Given the description of an element on the screen output the (x, y) to click on. 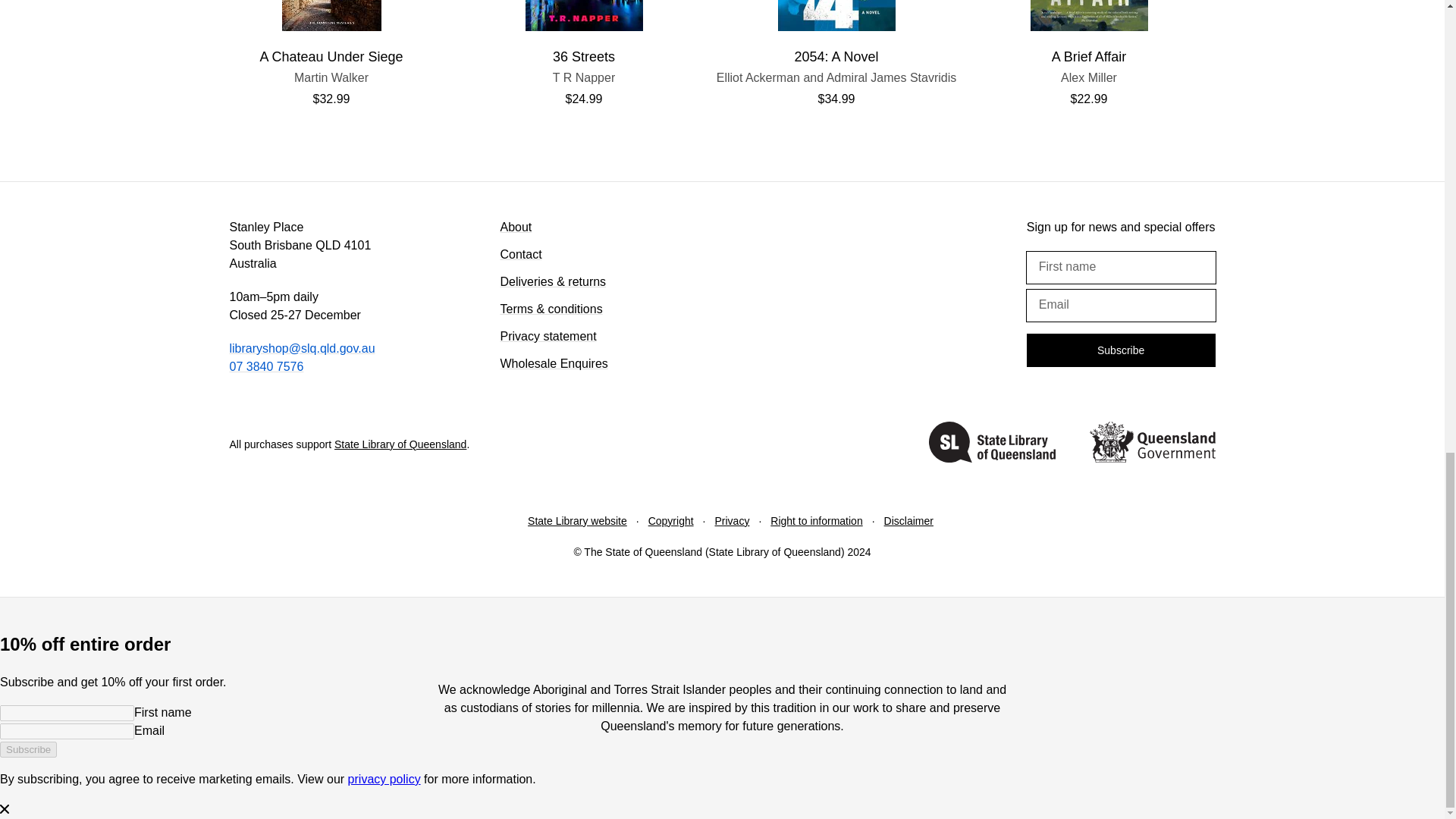
Go to Queensland State Library homepage (331, 77)
Go to Queensland Government homepage (992, 444)
tel:07 3840 7576 (1088, 77)
